Given the description of an element on the screen output the (x, y) to click on. 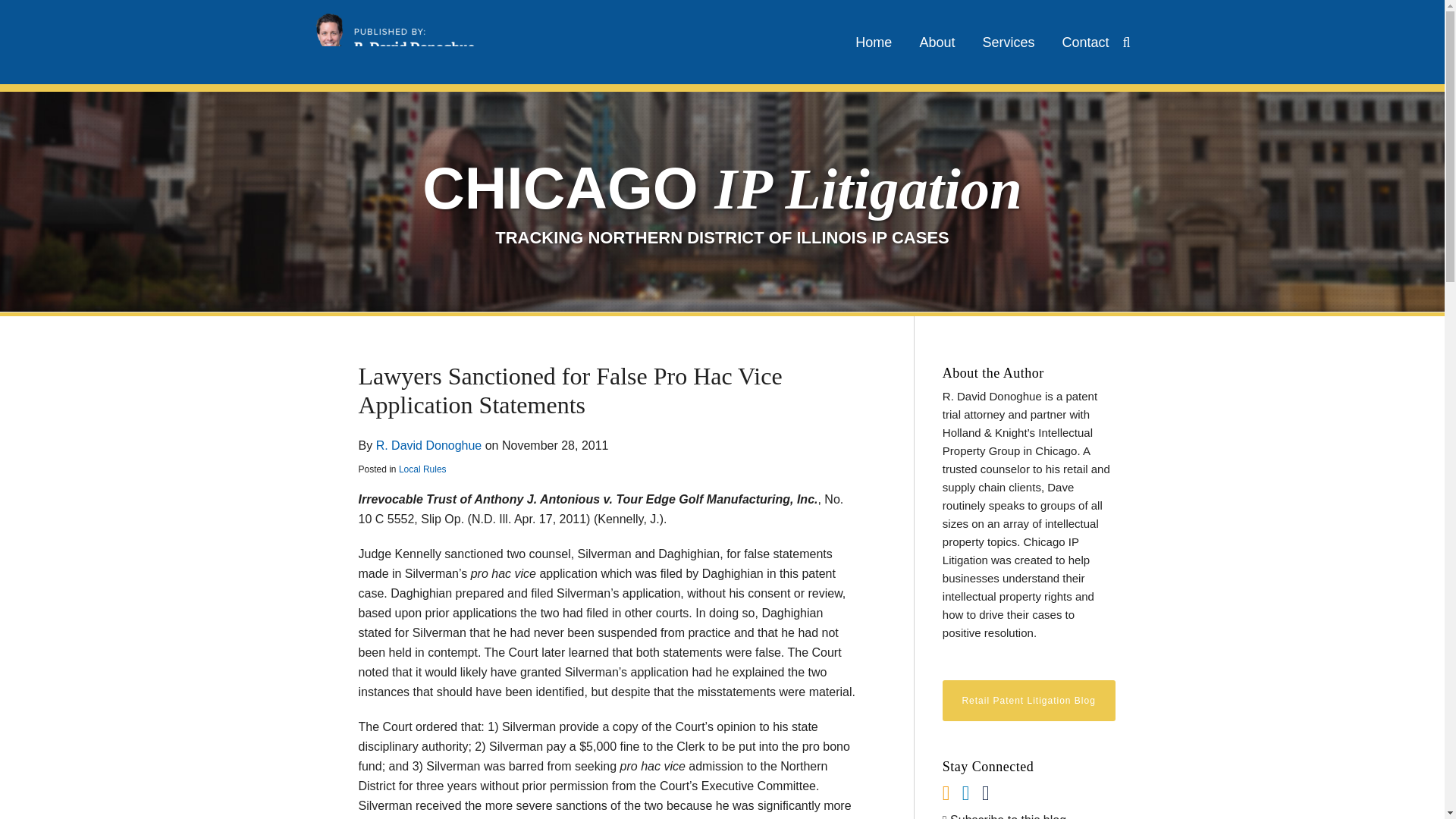
CHICAGO IP Litigation (722, 187)
About (936, 42)
R. David Donoghue (428, 445)
Services (1007, 42)
Contact (1084, 42)
Retail Patent Litigation Blog (1028, 700)
Local Rules (422, 469)
Home (873, 42)
